Given the description of an element on the screen output the (x, y) to click on. 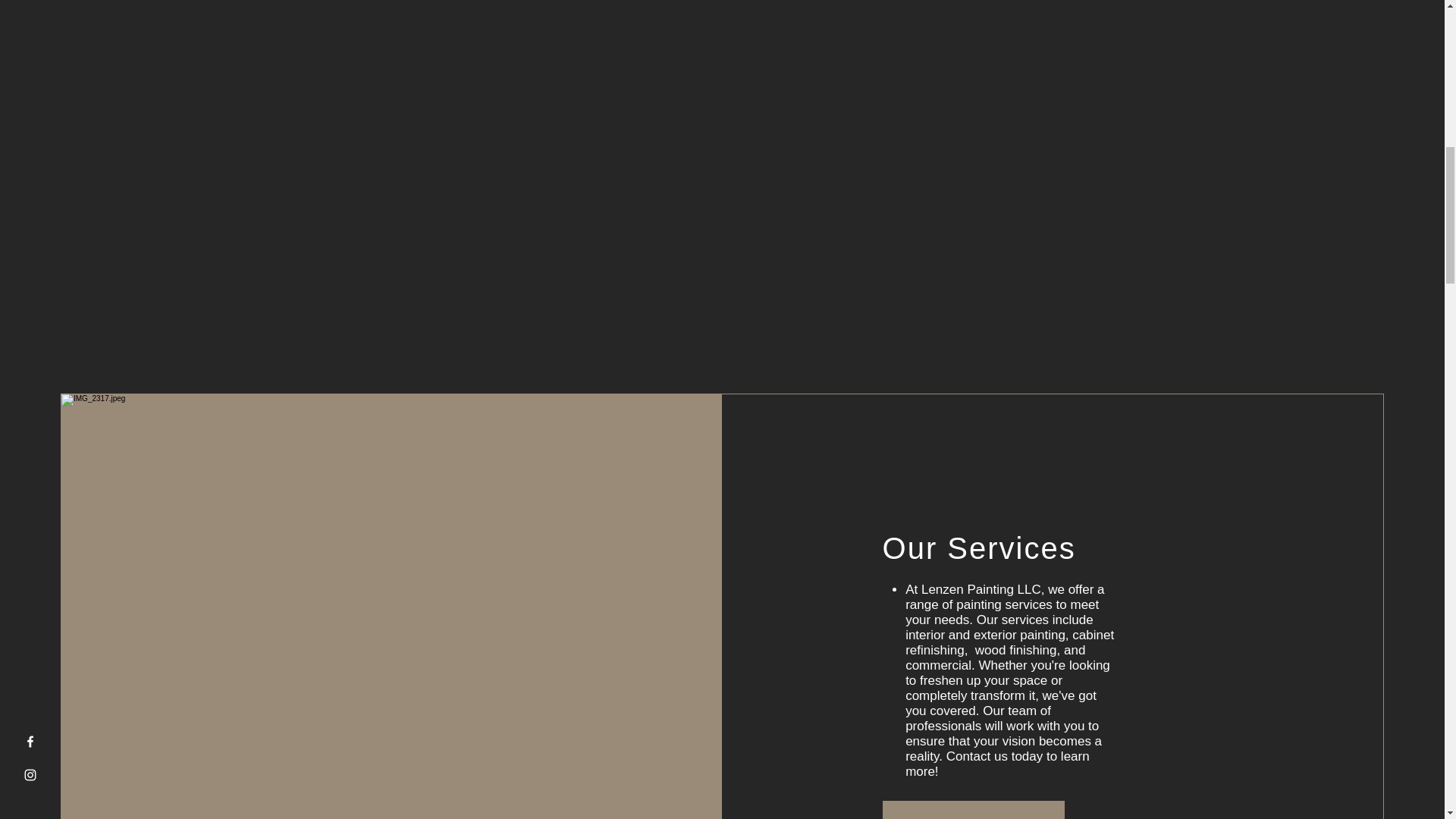
GET A QUOTE (973, 809)
